Given the description of an element on the screen output the (x, y) to click on. 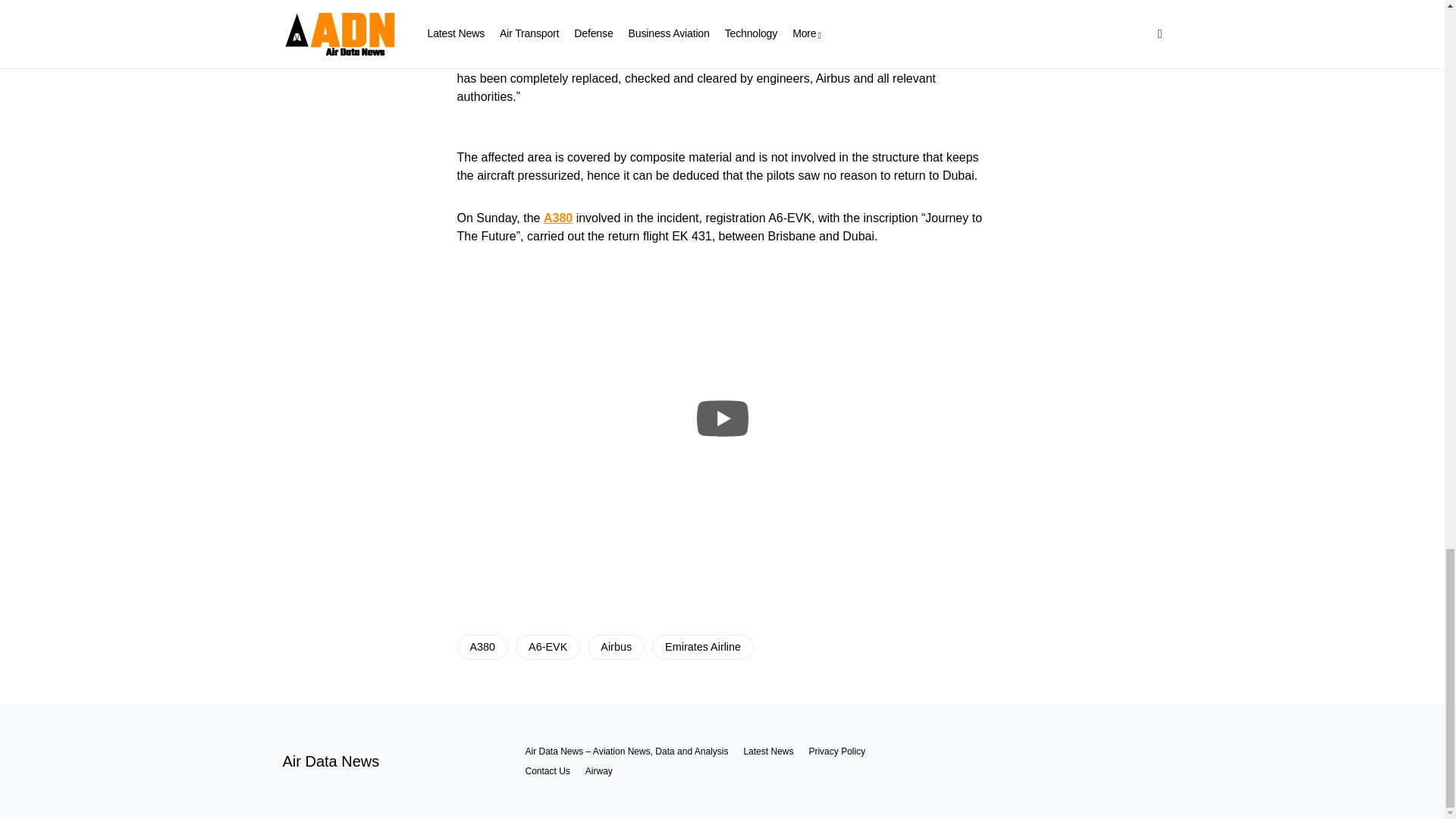
Privacy Policy (836, 751)
A6-EVK (547, 646)
Contact Us (546, 771)
A380 (482, 646)
Emirates Airline (703, 646)
Air Data News (330, 761)
Airbus (616, 646)
A380 (557, 217)
Latest News (767, 751)
